Given the description of an element on the screen output the (x, y) to click on. 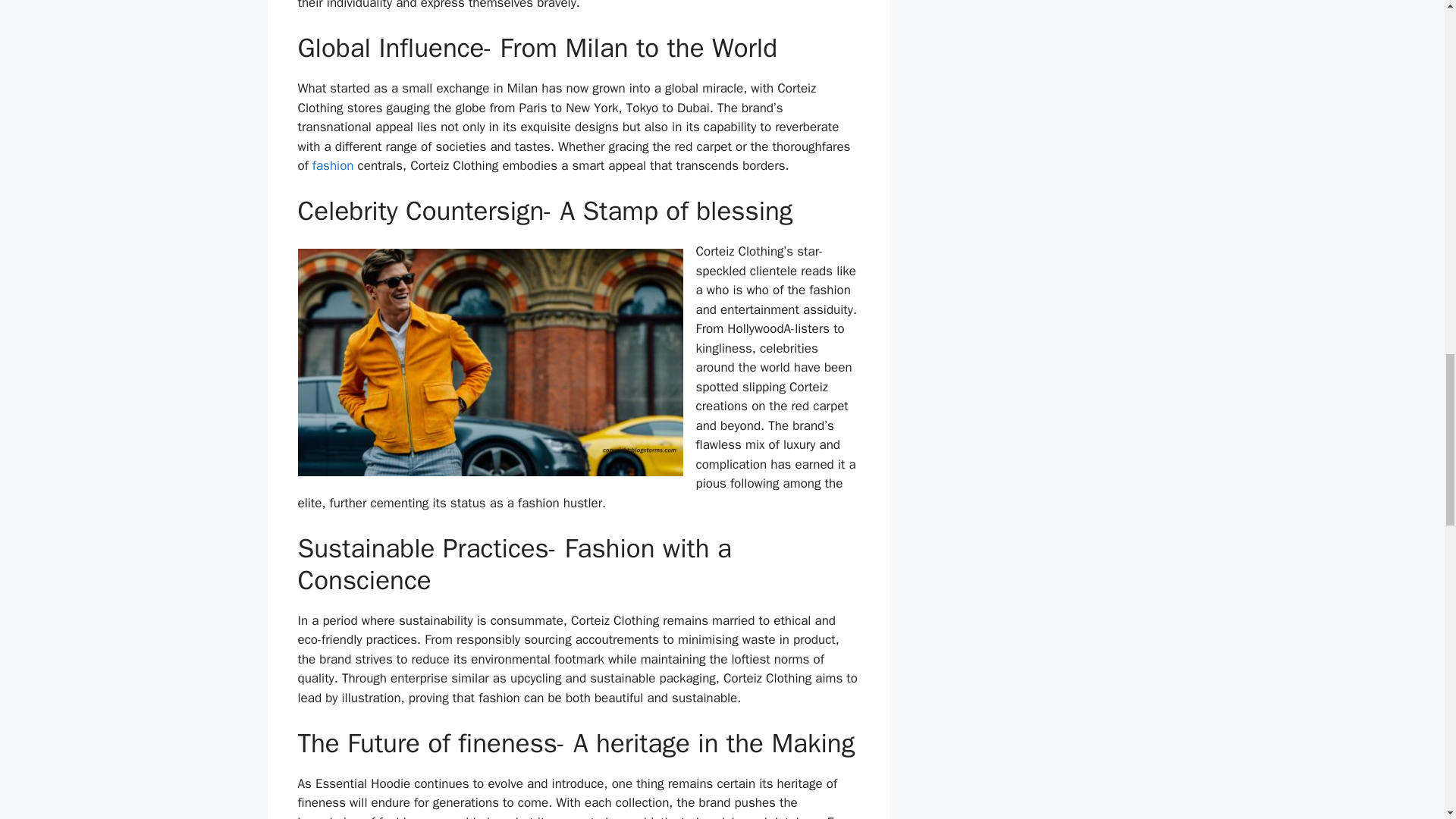
fashion (333, 165)
